Given the description of an element on the screen output the (x, y) to click on. 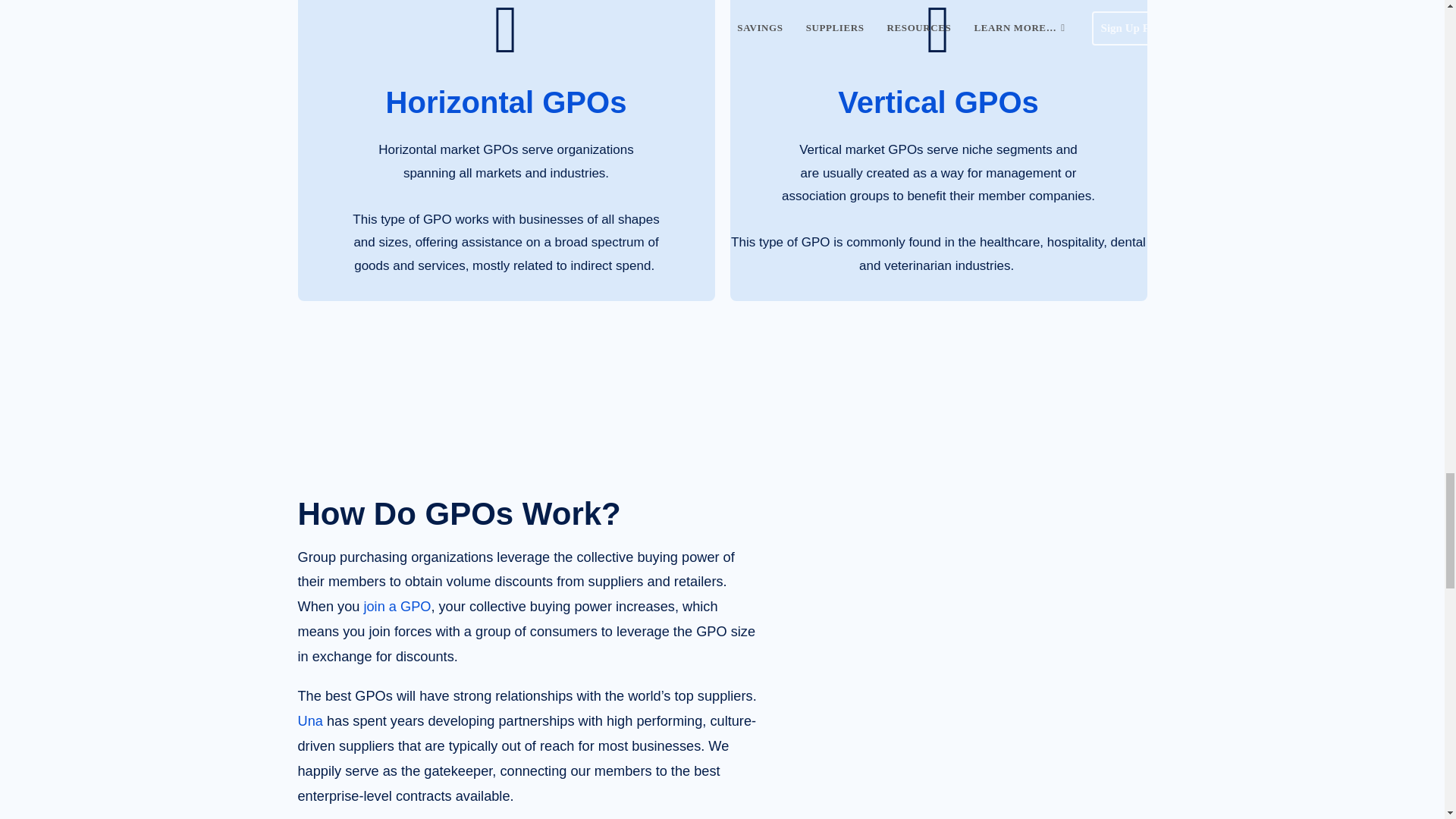
Una (309, 720)
Page 8 (528, 682)
join a GPO (396, 606)
